Given the description of an element on the screen output the (x, y) to click on. 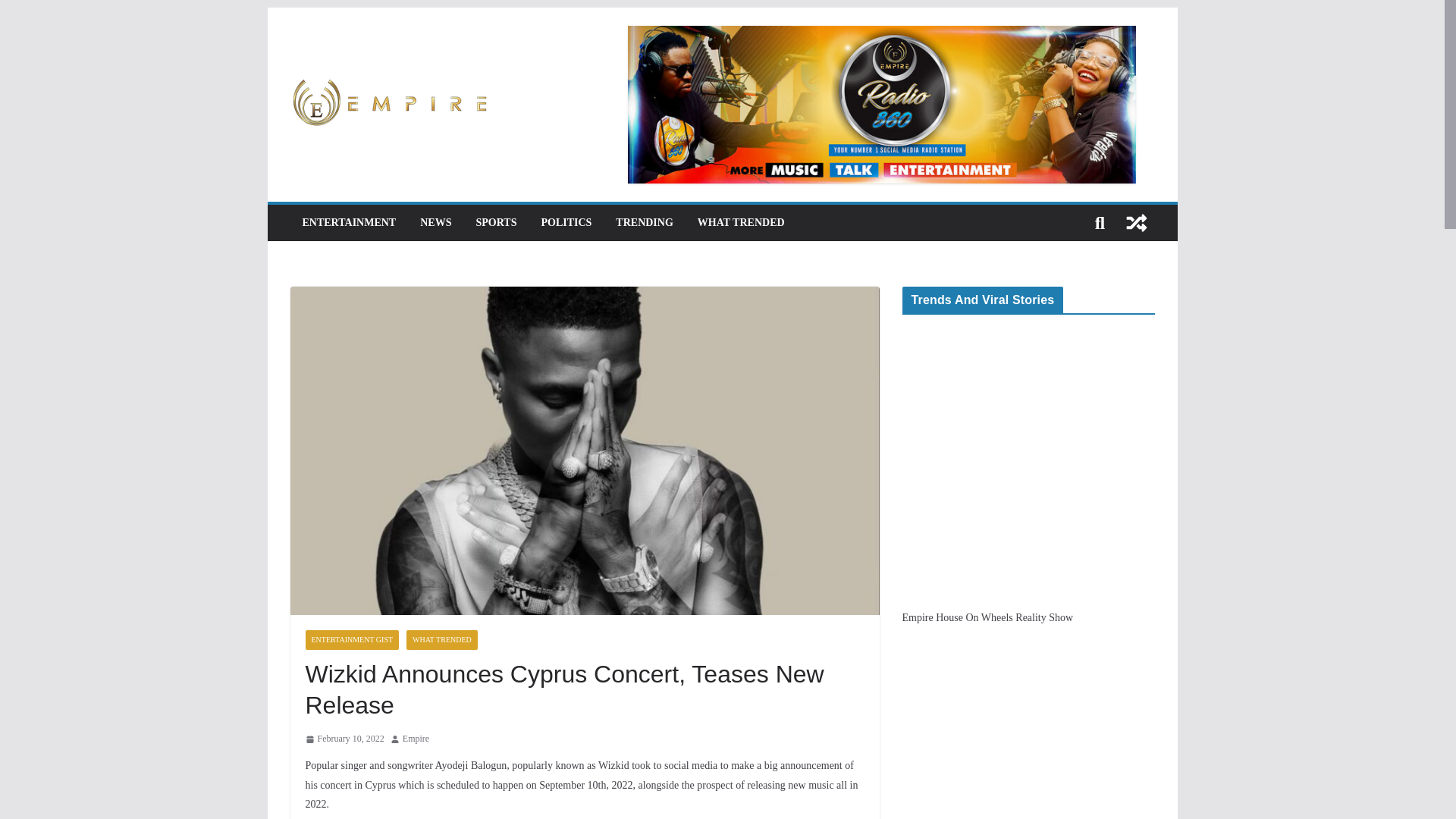
View a random post (1136, 222)
February 10, 2022 (344, 739)
POLITICS (565, 222)
Empire (416, 739)
TRENDING (643, 222)
WHAT TRENDED (441, 639)
Empire (416, 739)
SPORTS (496, 222)
WHAT TRENDED (740, 222)
